Given the description of an element on the screen output the (x, y) to click on. 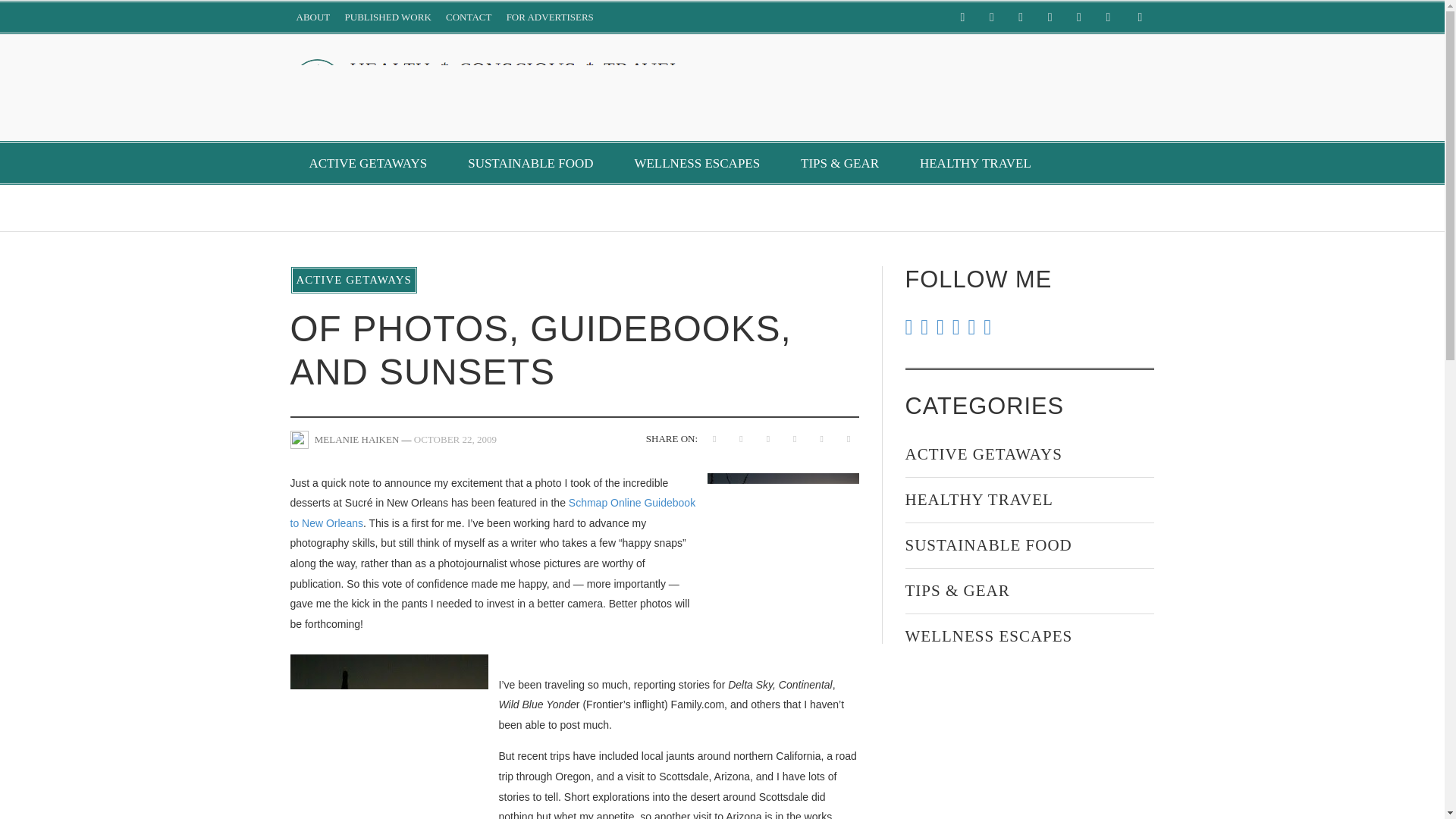
ACTIVE GETAWAYS (367, 163)
LinkedIn (1049, 17)
Instagram (1020, 17)
SUSTAINABLE FOOD (529, 163)
FOR ADVERTISERS (549, 17)
WELLNESS ESCAPES (696, 163)
PUBLISHED WORK (388, 17)
Facebook (961, 17)
CONTACT (468, 17)
Twitter (1107, 17)
